Given the description of an element on the screen output the (x, y) to click on. 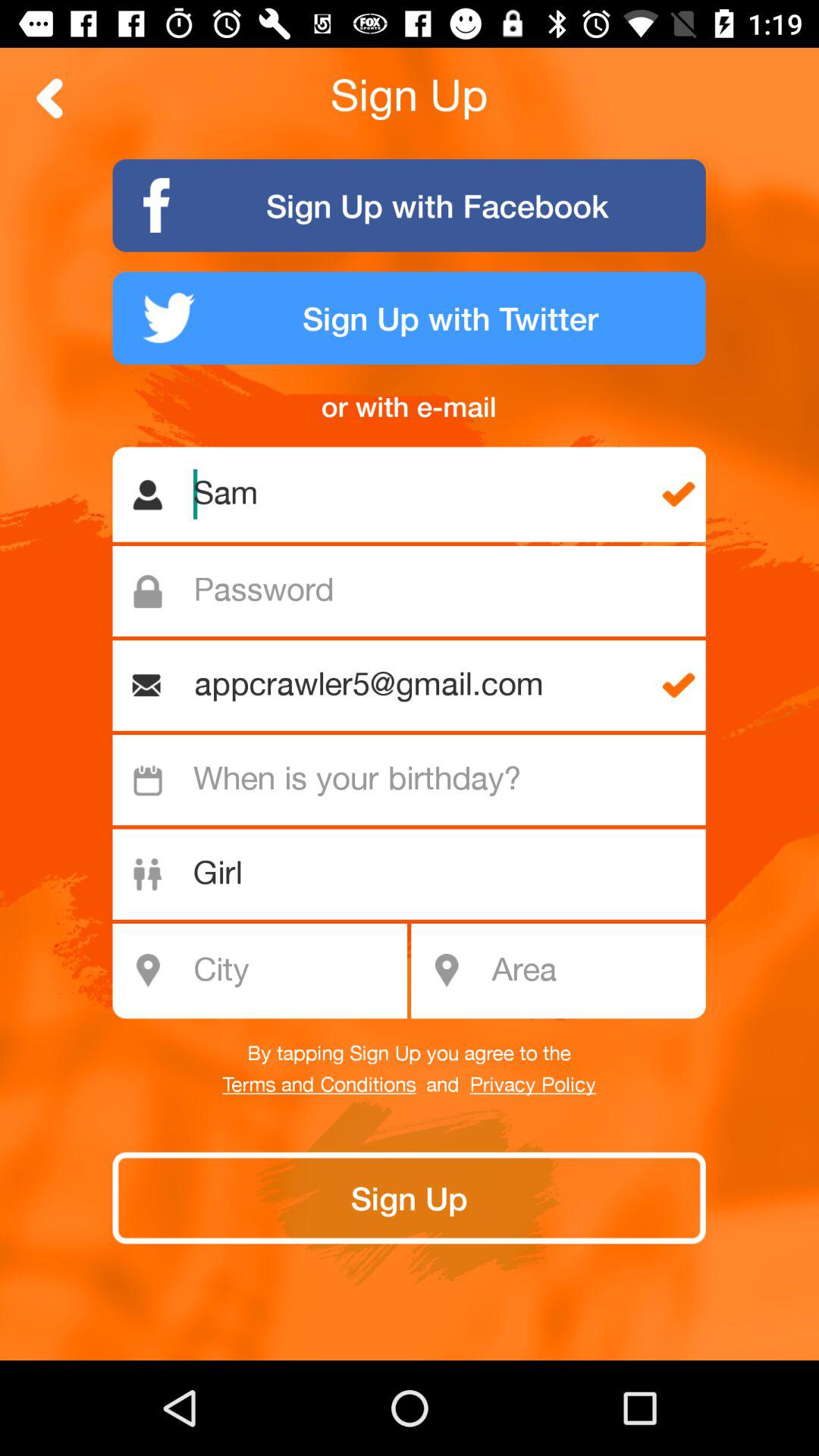
enter the password (417, 591)
